Given the description of an element on the screen output the (x, y) to click on. 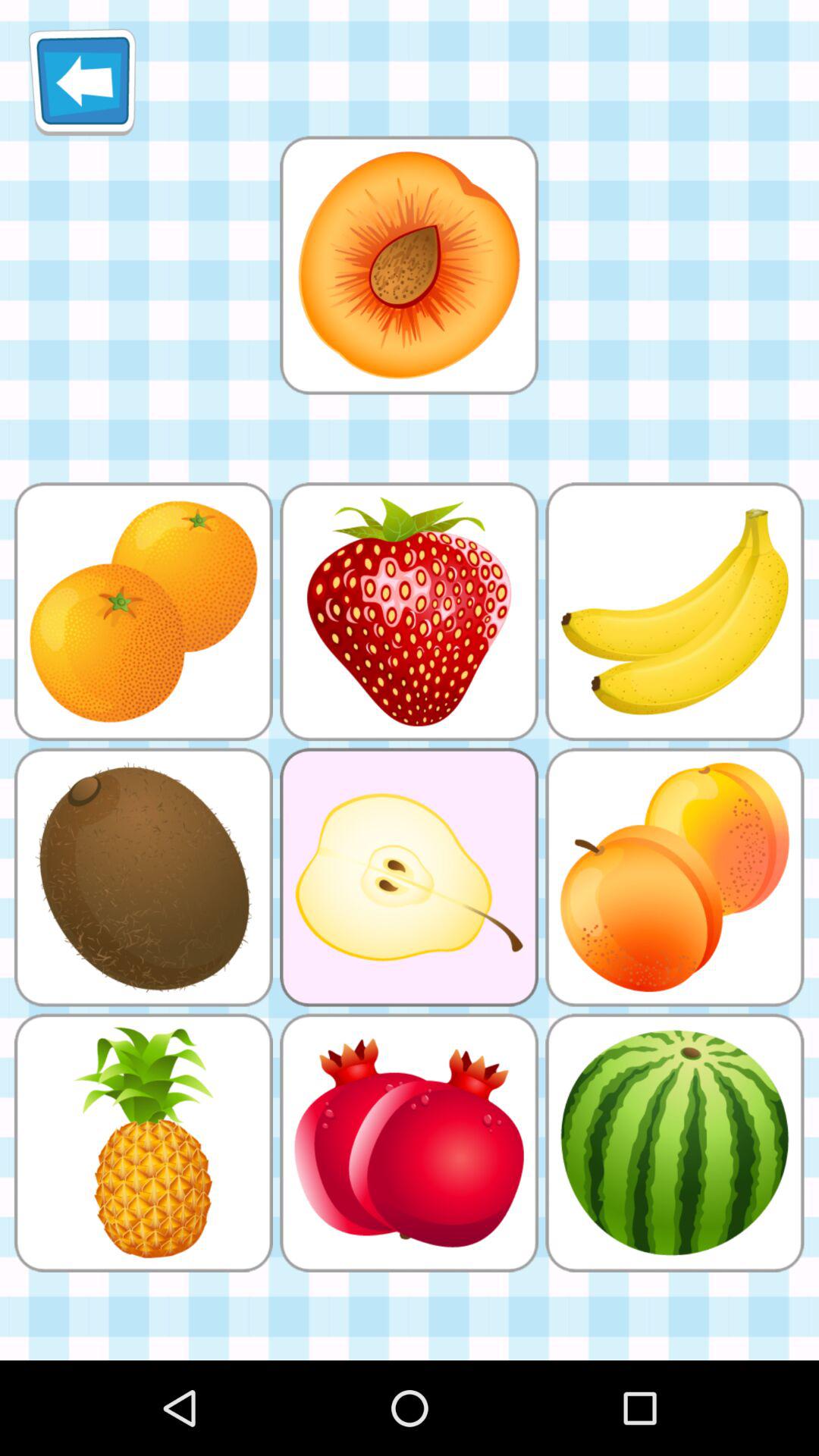
selects the peach option (409, 265)
